Given the description of an element on the screen output the (x, y) to click on. 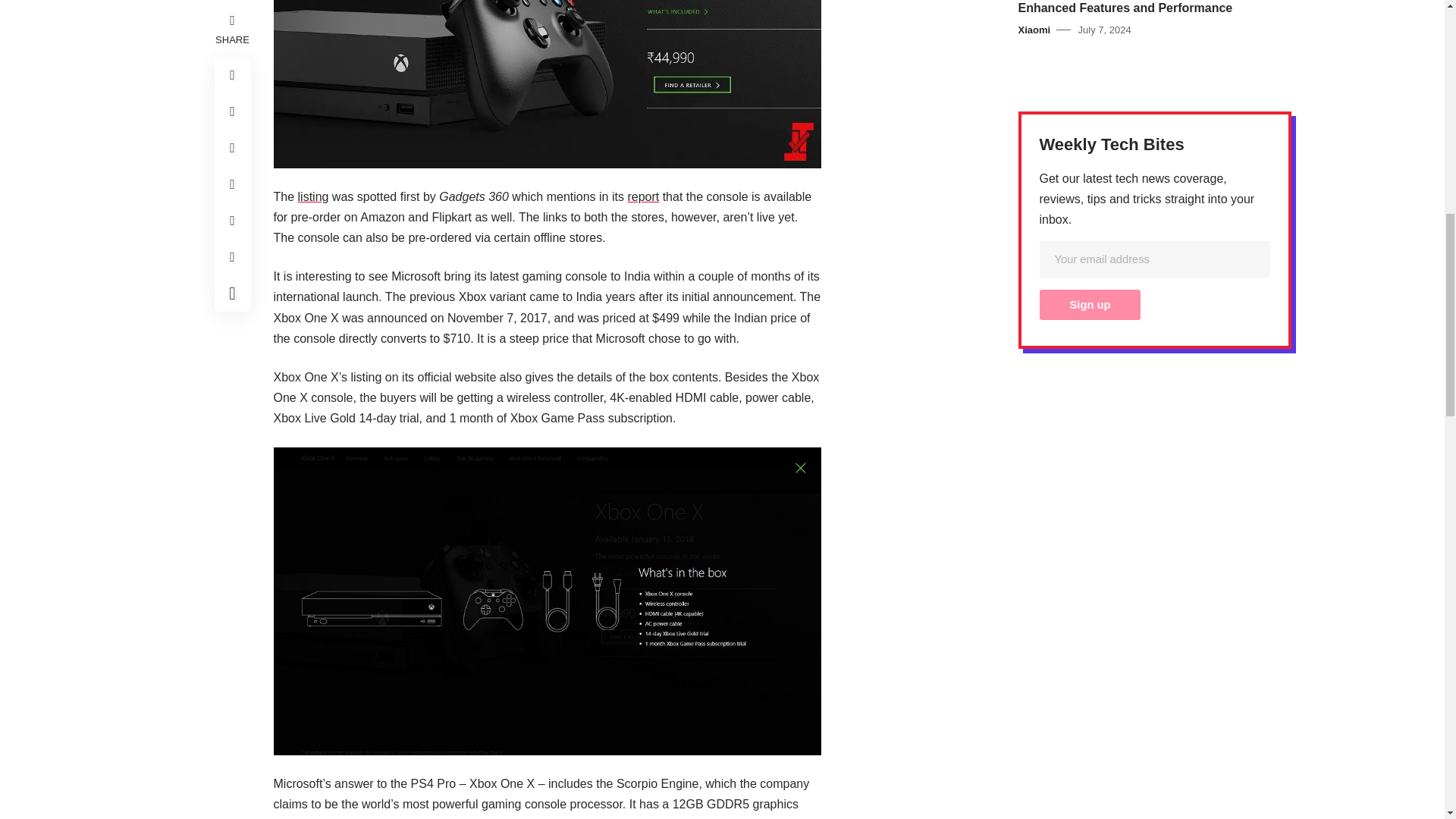
Sign up (1089, 304)
